Given the description of an element on the screen output the (x, y) to click on. 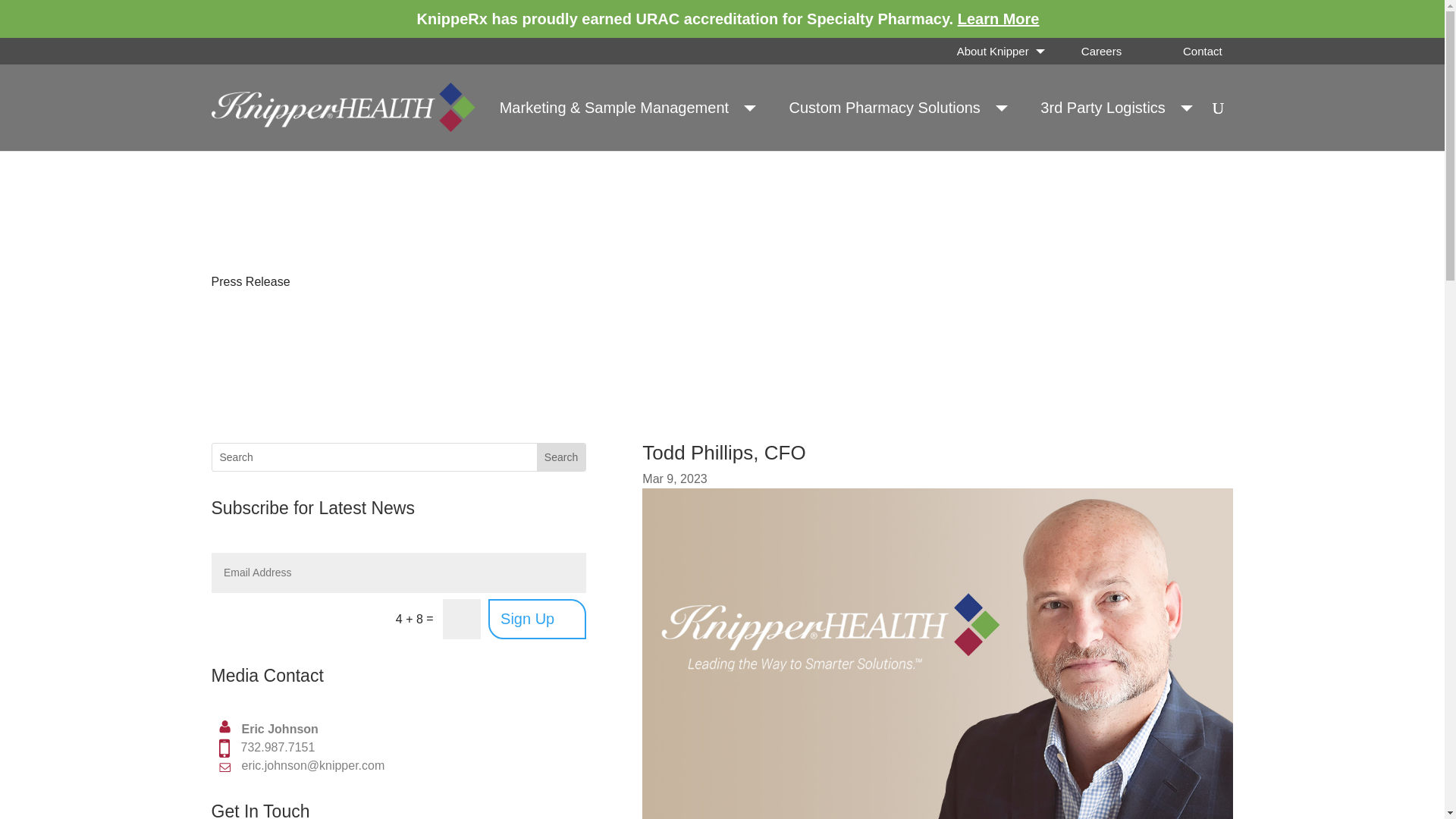
Search (561, 456)
About Knipper (999, 50)
Contact (1201, 50)
Search (561, 456)
Careers (1101, 50)
Learn More (998, 18)
Custom Pharmacy Solutions (892, 106)
